Given the description of an element on the screen output the (x, y) to click on. 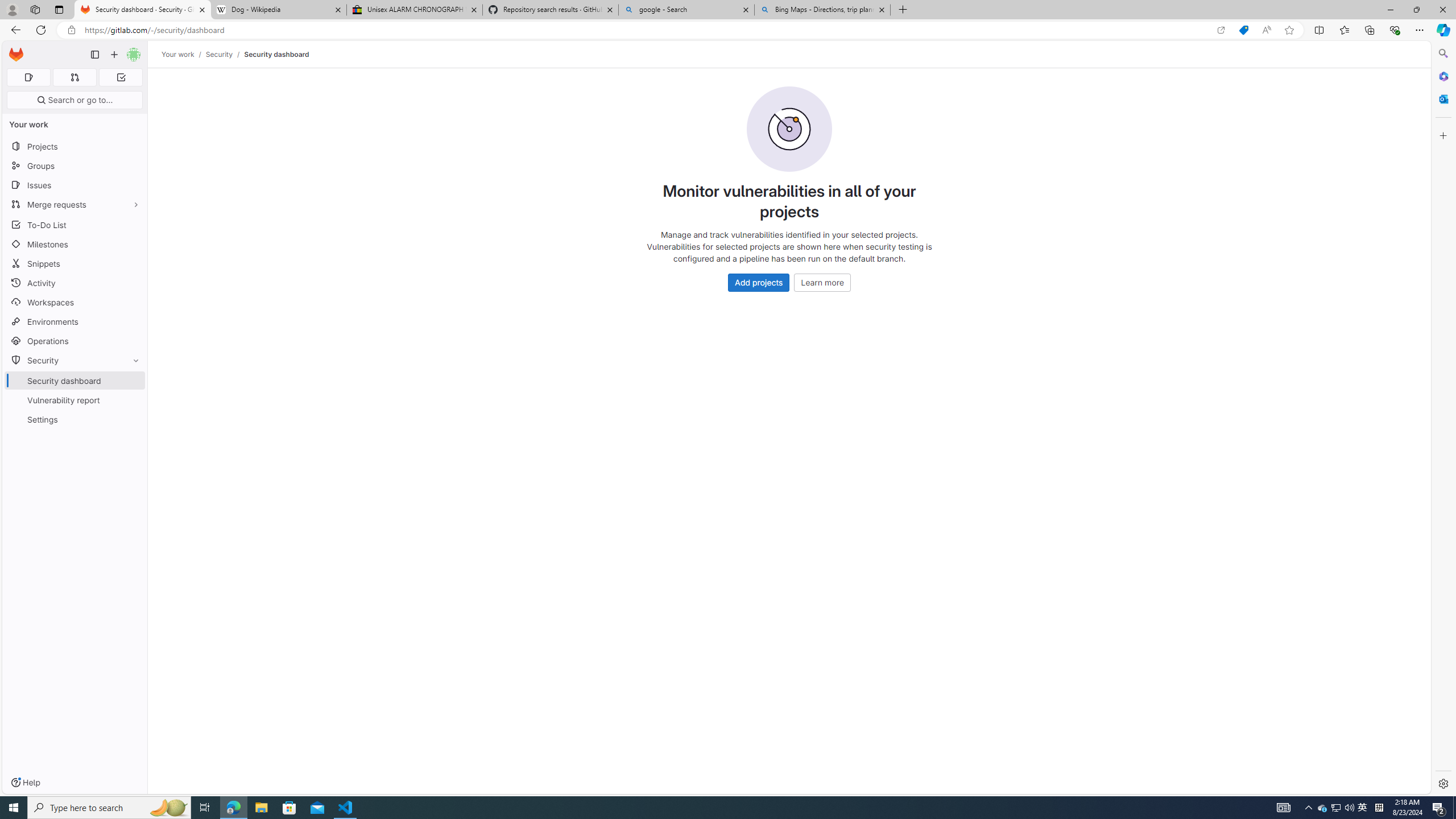
Activity (74, 282)
Security/ (224, 53)
